Given the description of an element on the screen output the (x, y) to click on. 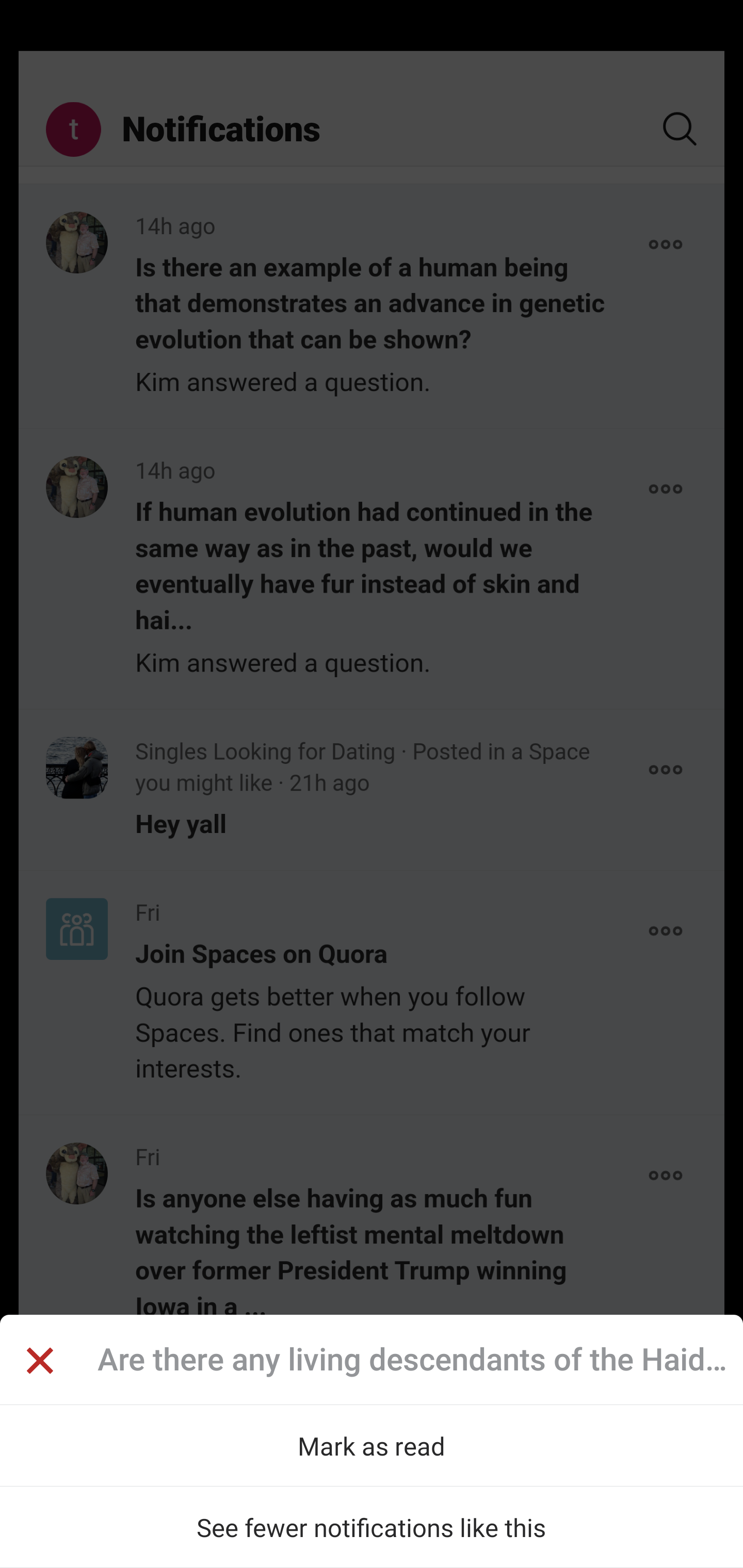
 (39, 1362)
Mark as read (371, 1445)
See fewer notifications like this (371, 1527)
